Given the description of an element on the screen output the (x, y) to click on. 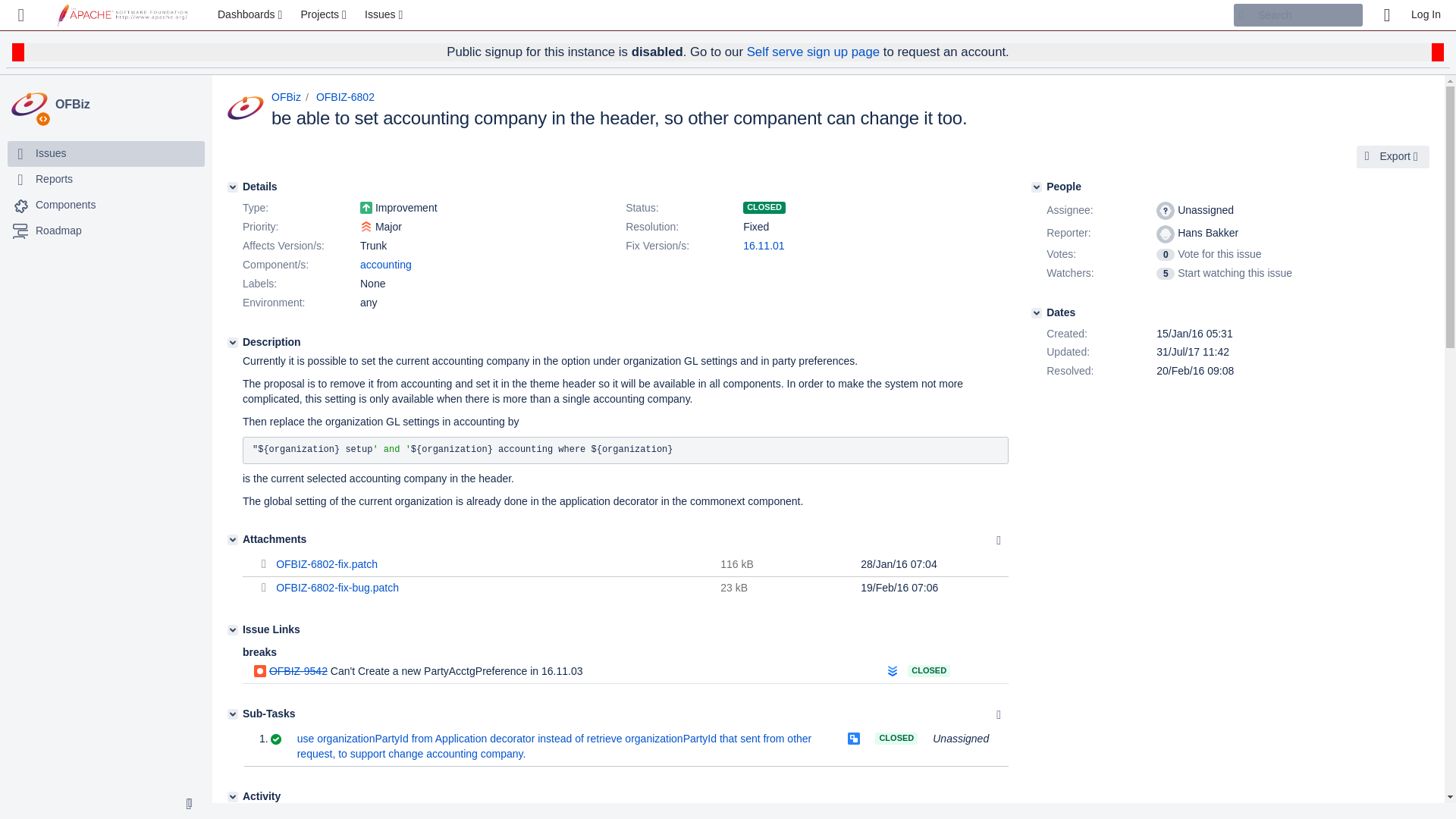
Search for issues and view recent issues (384, 15)
Log In (1425, 15)
accounting (385, 264)
View recent projects and browse a list of projects (324, 15)
Reports (106, 179)
OFBiz (285, 96)
OFBiz (127, 104)
Options (998, 540)
Issues (384, 15)
Reports (53, 179)
